Given the description of an element on the screen output the (x, y) to click on. 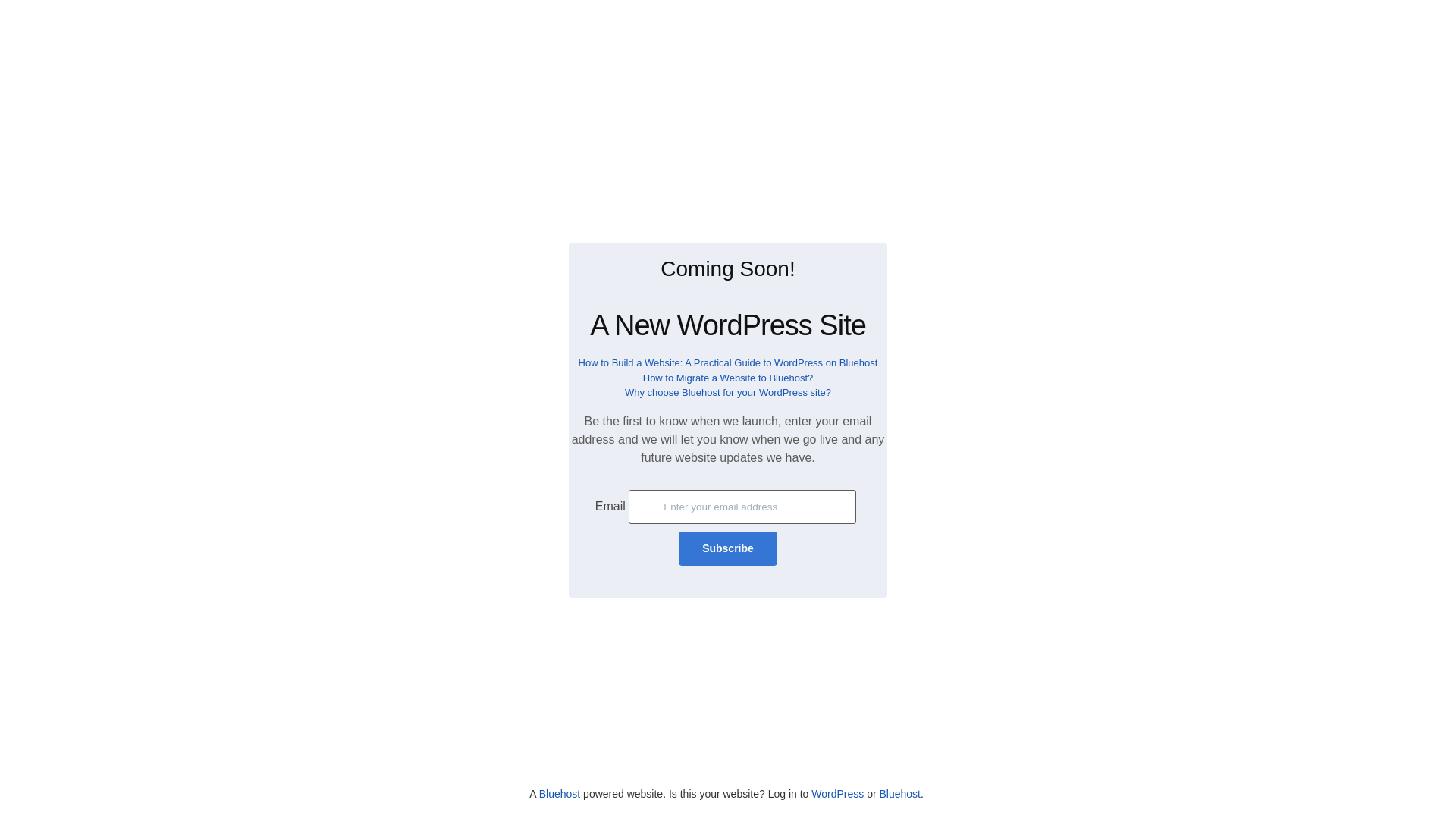
Subscribe (727, 548)
Bluehost (899, 793)
Subscribe (727, 548)
Bluehost (558, 793)
WordPress (836, 793)
Why choose Bluehost for your WordPress site? (727, 392)
How to Migrate a Website to Bluehost? (728, 378)
